Given the description of an element on the screen output the (x, y) to click on. 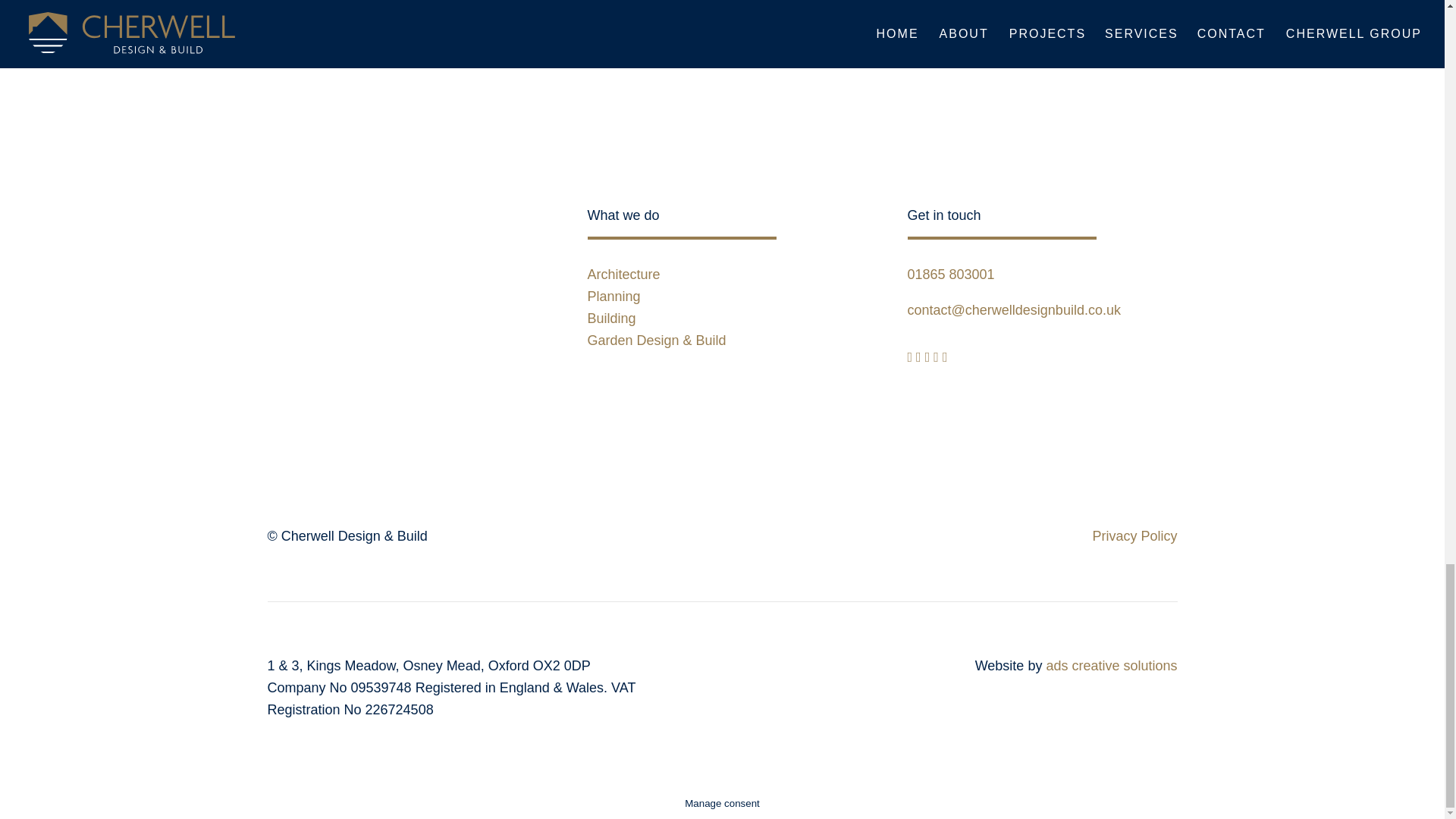
ads creative solutions (1110, 665)
FOLLOW OUR INSTAGRAM (722, 52)
Planning (613, 296)
Privacy Policy (1134, 535)
01865 803001 (950, 273)
Building (610, 318)
Architecture (622, 273)
logo-small (380, 411)
Cherwell-Logo-Light (380, 261)
